Given the description of an element on the screen output the (x, y) to click on. 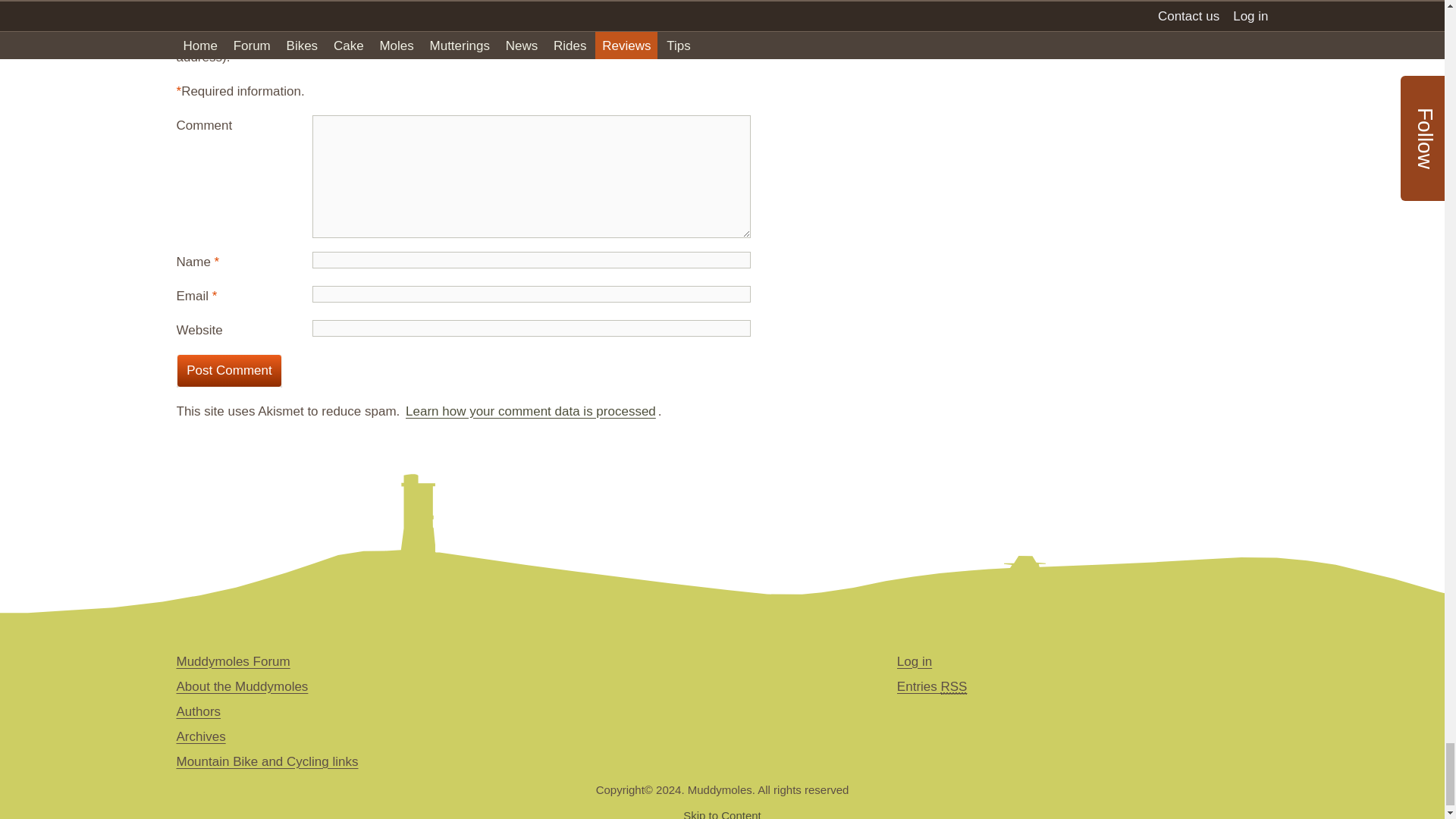
Post Comment (229, 370)
